Given the description of an element on the screen output the (x, y) to click on. 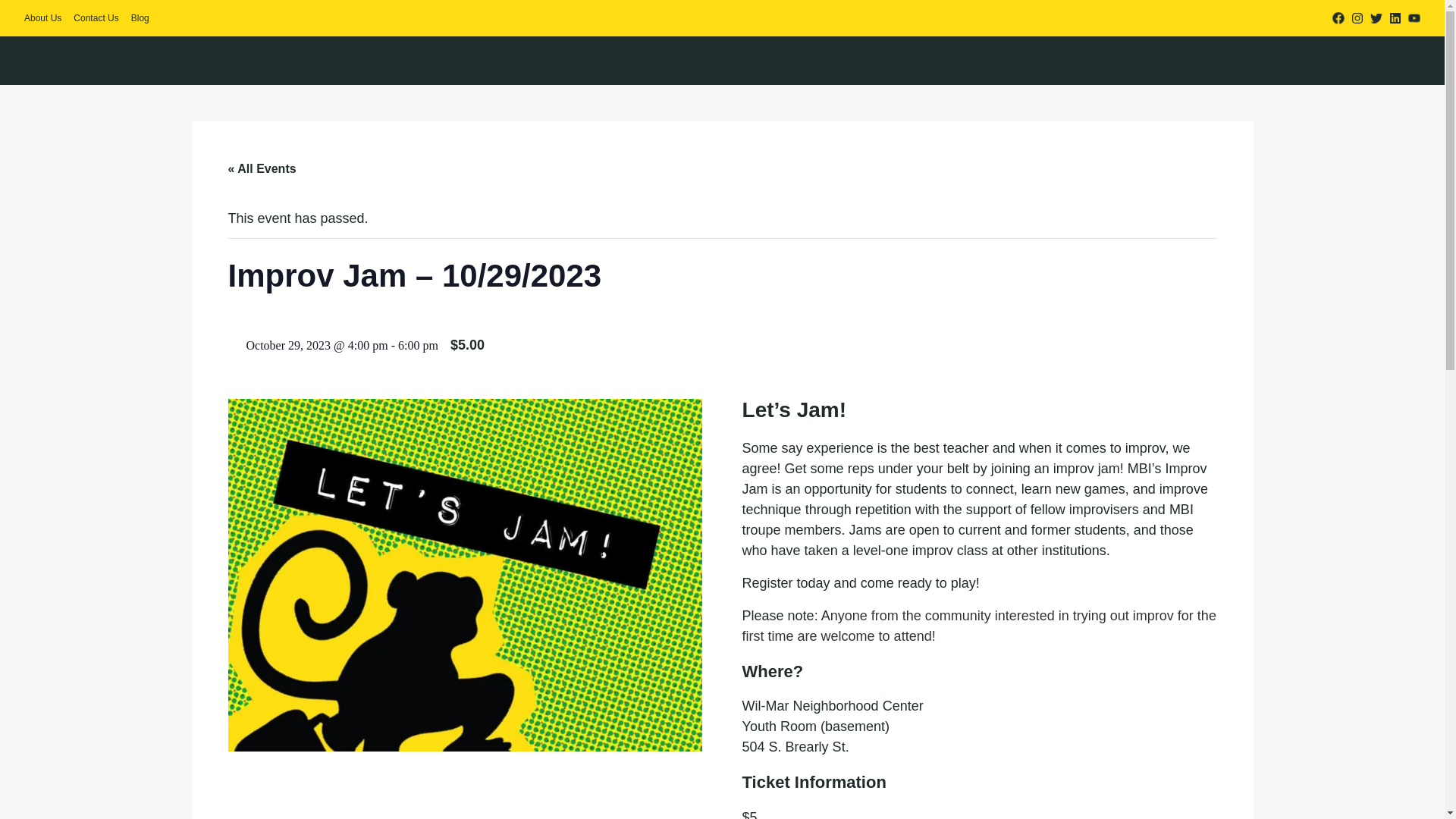
Blog (140, 18)
About Us (42, 18)
Blog (140, 18)
Twitter (1375, 18)
Contact Us (95, 18)
Contact Us (95, 18)
About Us (42, 18)
Instagram (1356, 18)
YouTube (1414, 18)
Facebook (1337, 18)
Linked In (1394, 18)
